Given the description of an element on the screen output the (x, y) to click on. 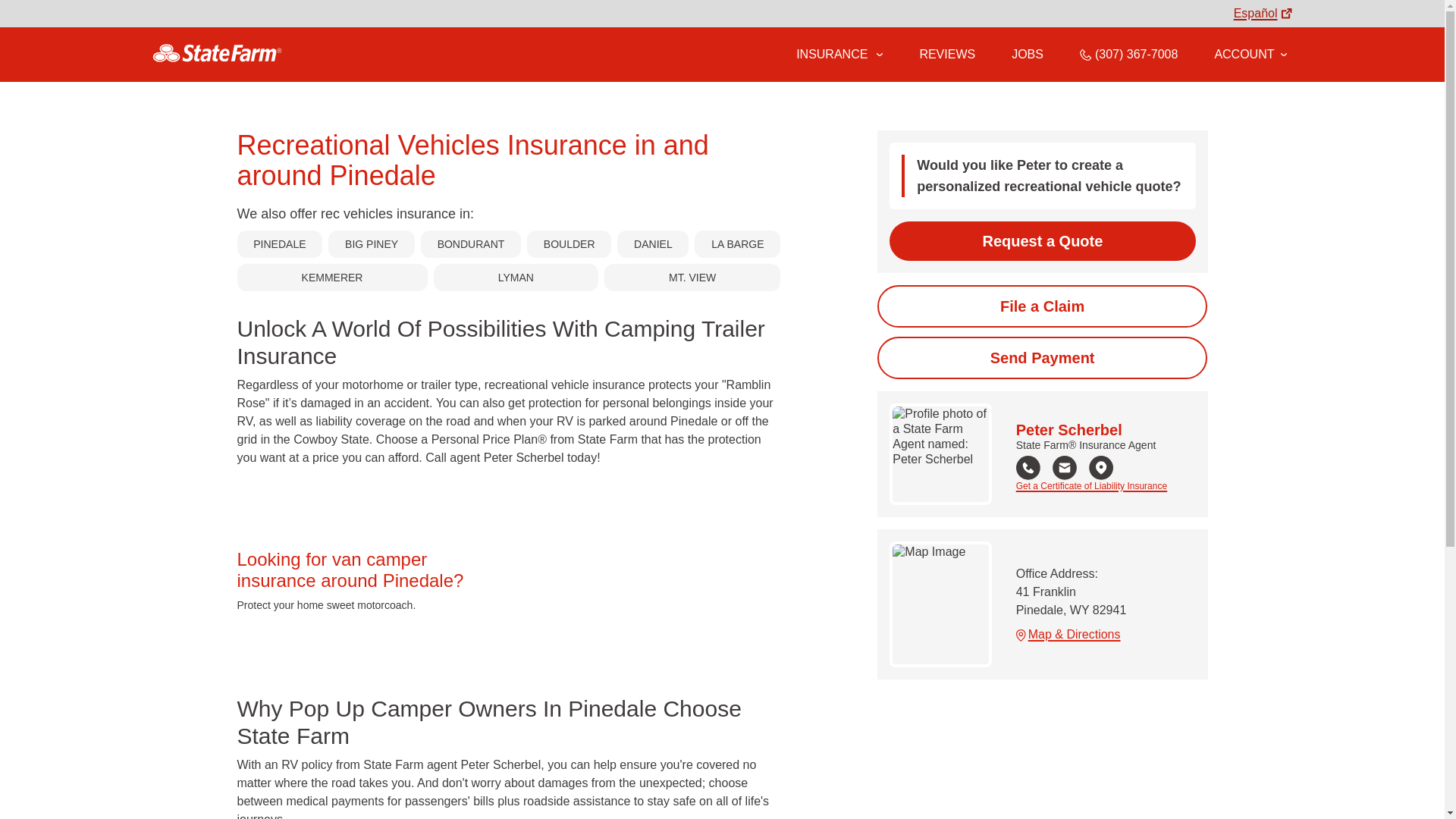
Insurance (839, 54)
Start the claim process online (1042, 306)
Account Options (1250, 54)
REVIEWS (946, 54)
INSURANCE (830, 54)
JOBS (1027, 54)
ACCOUNT (1250, 54)
Request a Quote (1042, 241)
